Given the description of an element on the screen output the (x, y) to click on. 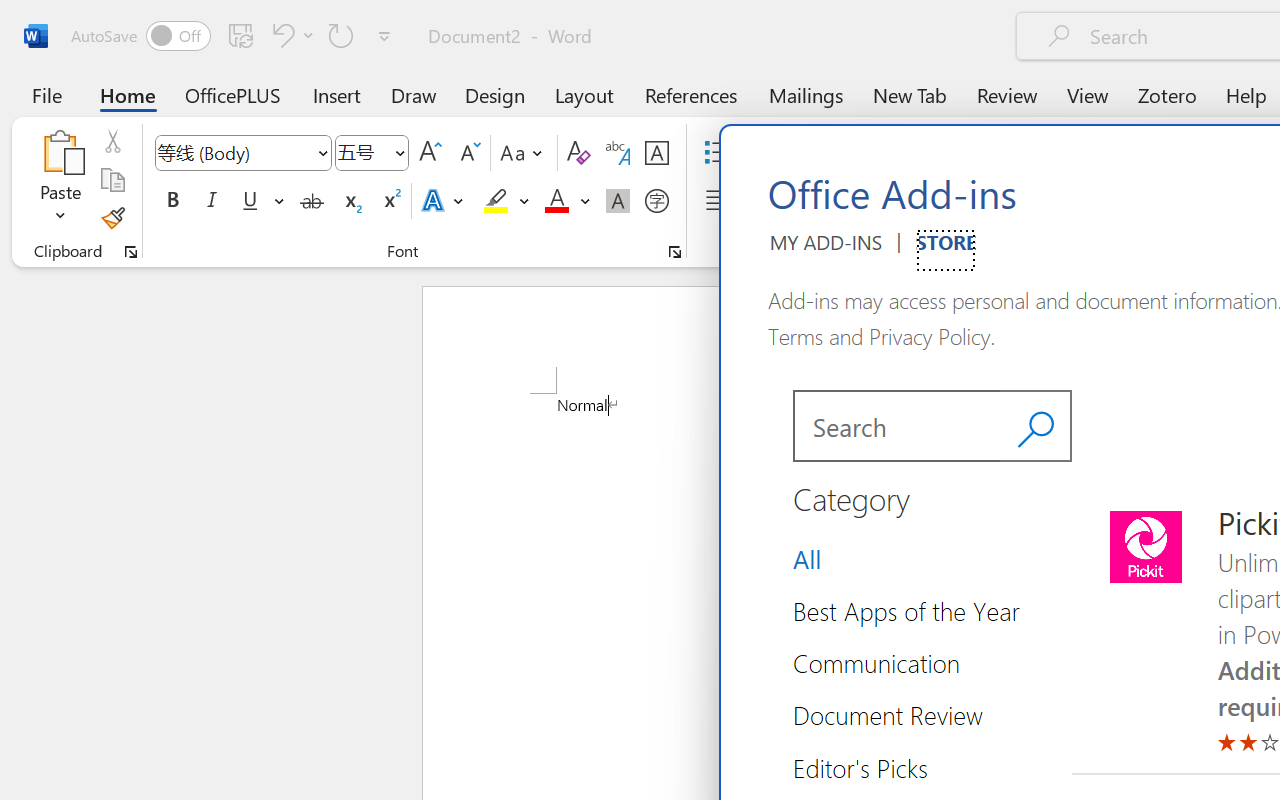
Underline (250, 201)
Home (127, 94)
Undo Apply Quick Style (280, 35)
Draw (413, 94)
Font... (675, 252)
References (690, 94)
Paste (60, 151)
Grow Font (430, 153)
More Options (585, 201)
Format Painter (112, 218)
AutoSave (140, 35)
Search (896, 426)
Zotero (1166, 94)
Italic (212, 201)
